Given the description of an element on the screen output the (x, y) to click on. 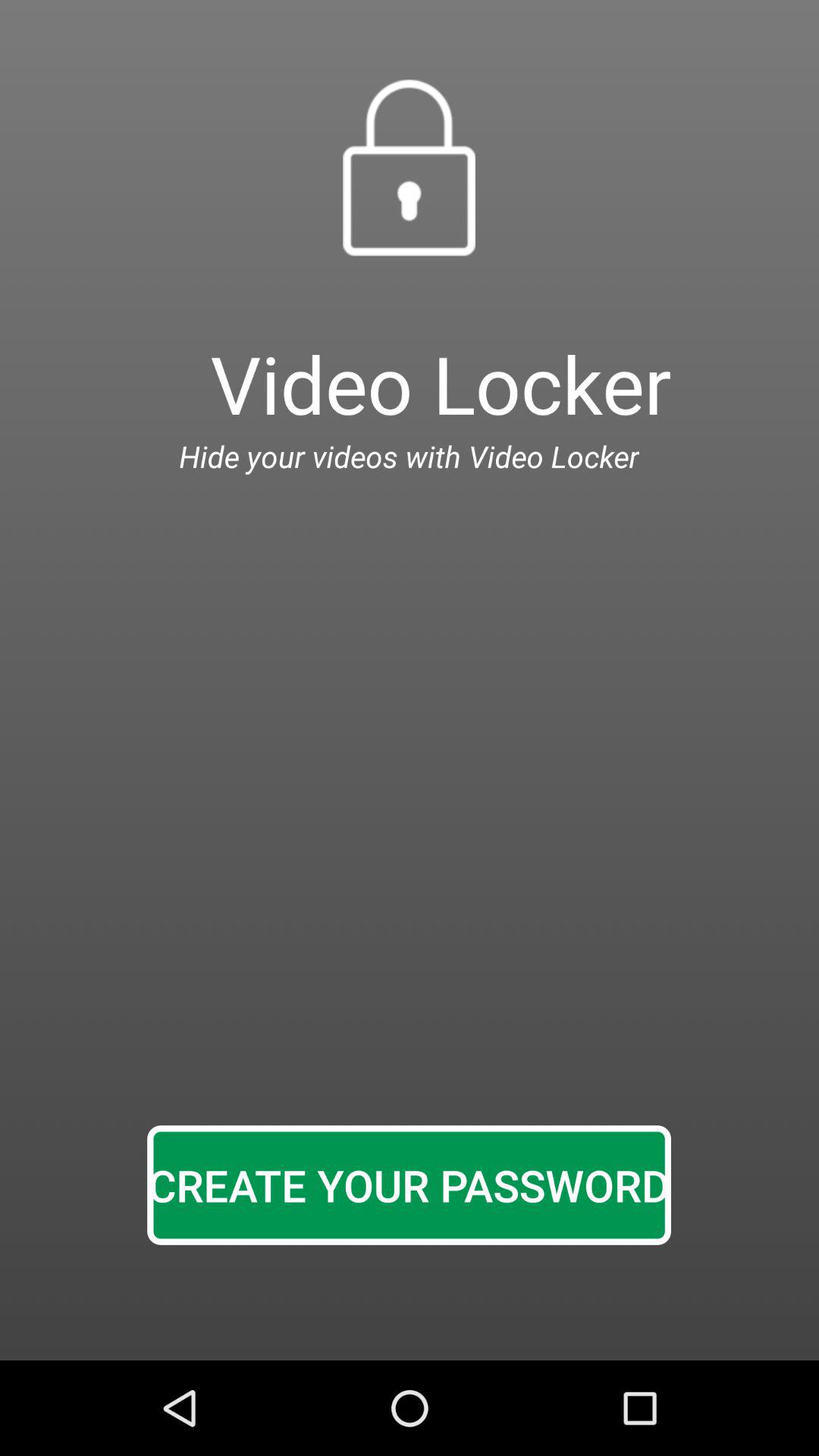
press the item below hide your videos item (409, 1184)
